Given the description of an element on the screen output the (x, y) to click on. 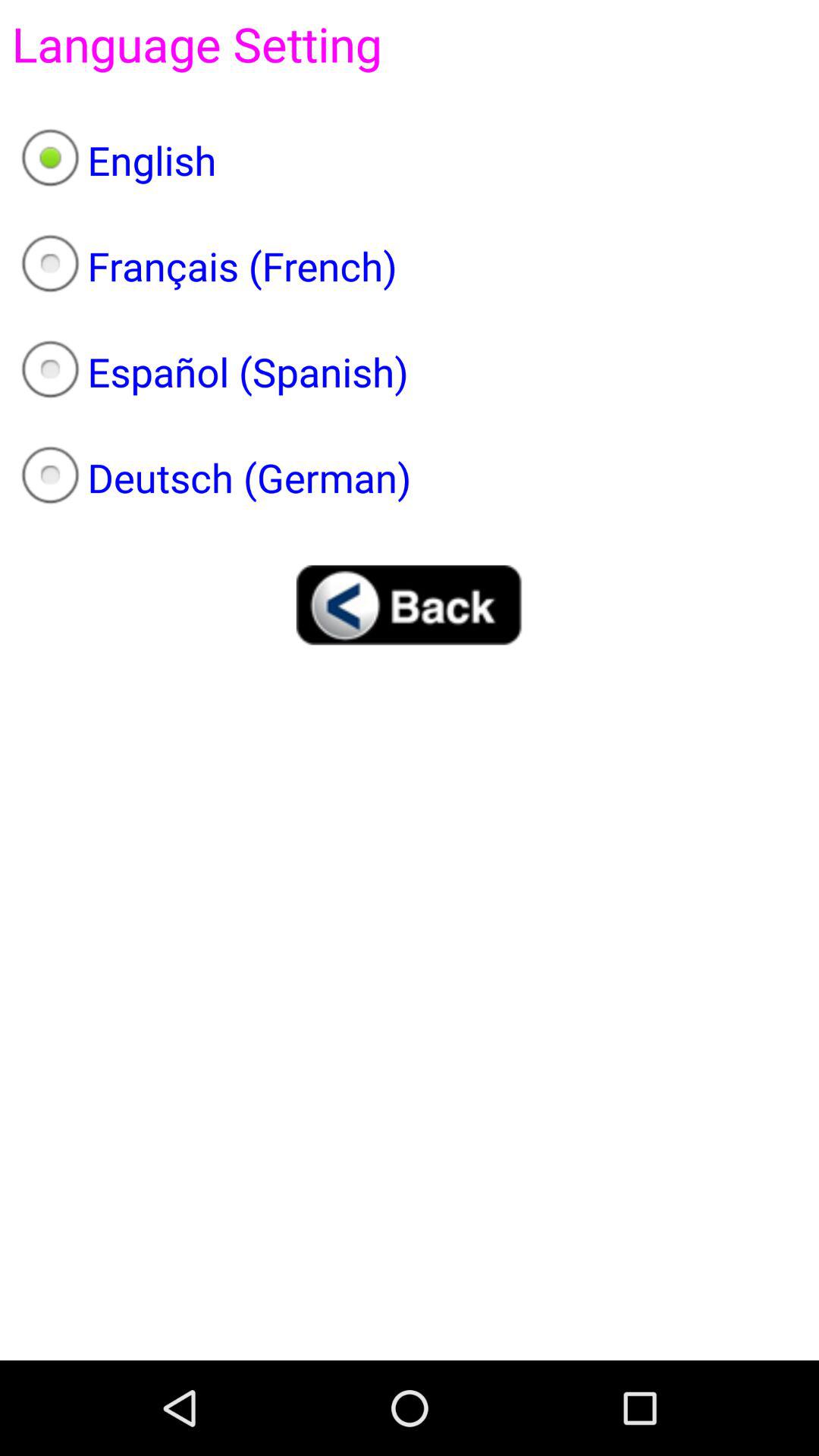
tap the english item (409, 160)
